Given the description of an element on the screen output the (x, y) to click on. 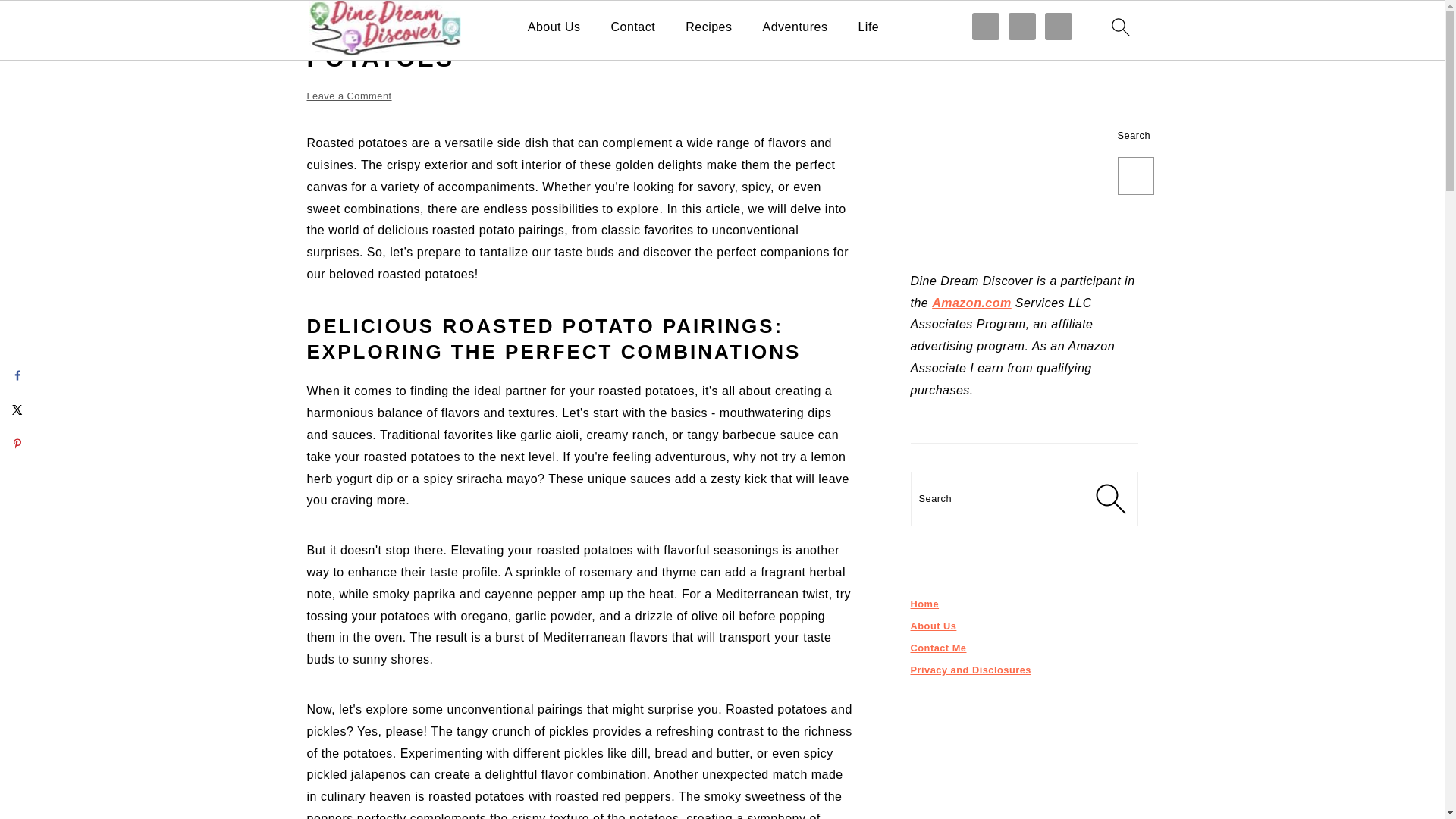
Contact (633, 26)
Adventures (795, 26)
Share on X (16, 409)
Share on Facebook (16, 374)
About Us (553, 26)
search icon (1119, 26)
Life (868, 26)
Save to Pinterest (16, 442)
Recipes (708, 26)
